Given the description of an element on the screen output the (x, y) to click on. 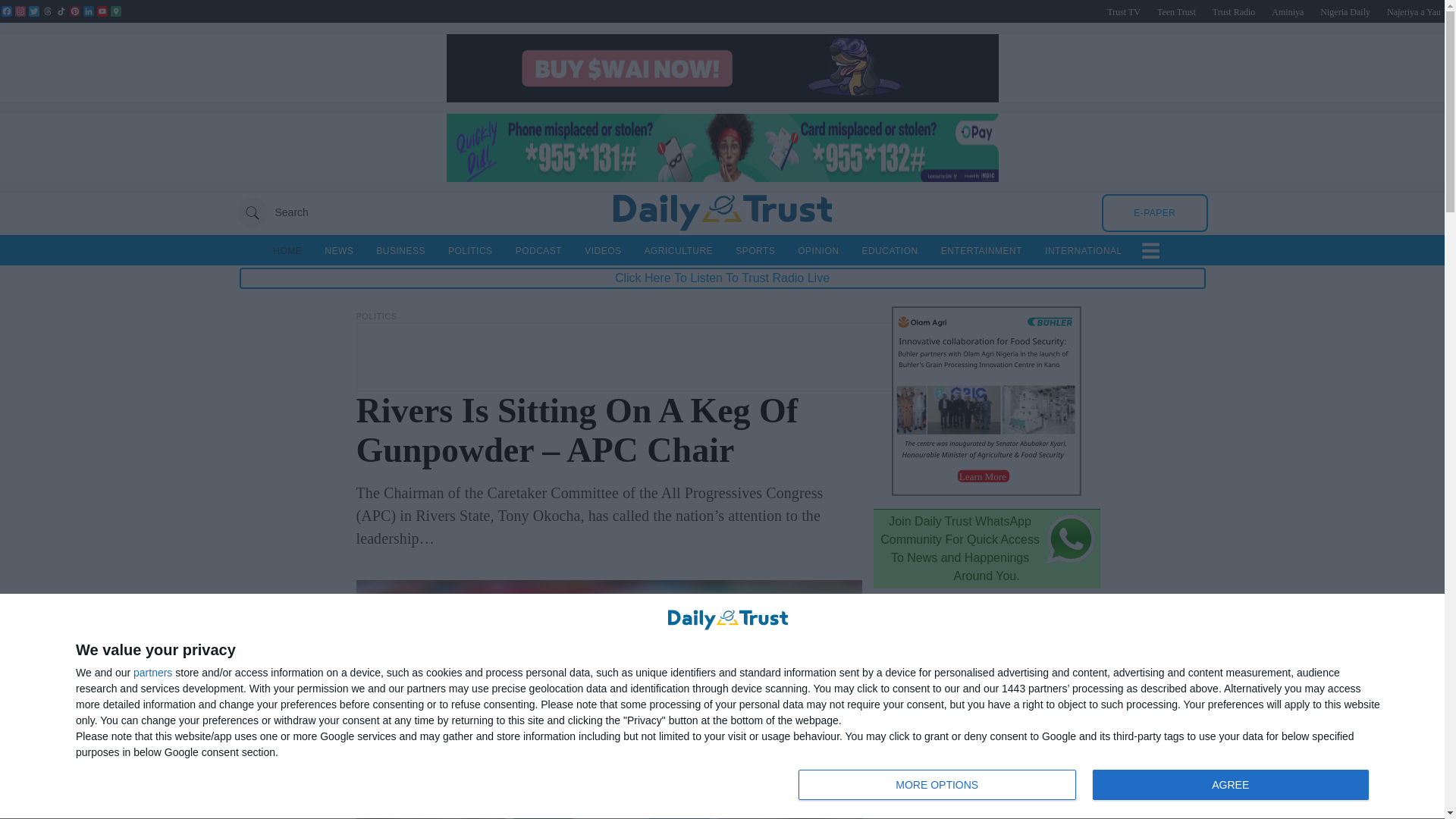
Teen Trust (1176, 11)
Olam Agri (986, 491)
Twitter (33, 10)
Najeriya a Yau (1414, 11)
AGREE (1230, 784)
Aminiya Online (1287, 11)
Saurari Shirye Shiryenmu (1414, 11)
Search (271, 212)
Instagram (20, 10)
Teen Trust (1176, 11)
Pinterest (74, 10)
Politics (376, 316)
Threads (47, 10)
Trust TV Live (1123, 11)
LinkedIn (88, 10)
